Given the description of an element on the screen output the (x, y) to click on. 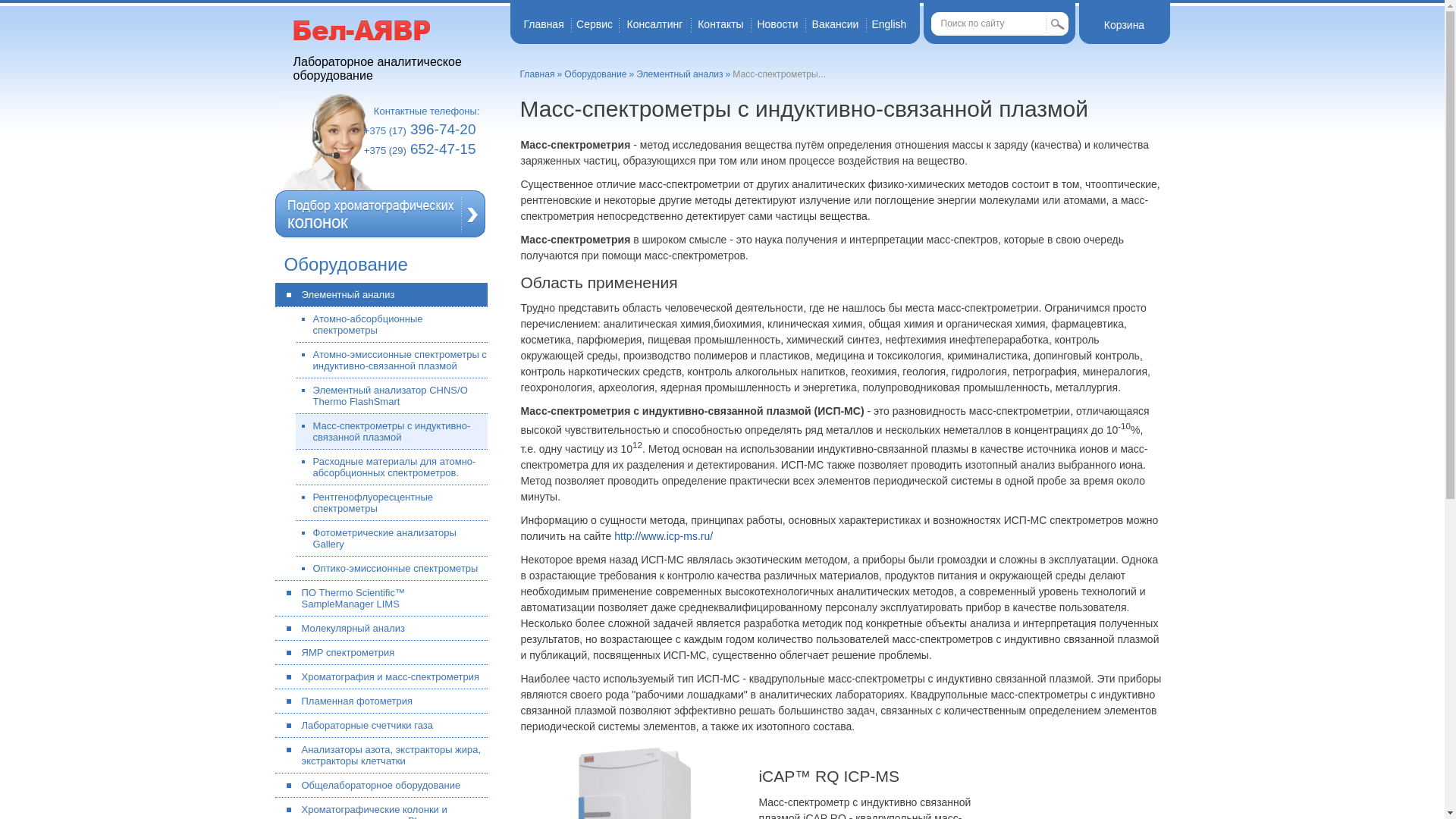
http://www.icp-ms.ru/ Element type: text (663, 536)
652-47-15 Element type: text (443, 148)
English Element type: text (888, 24)
396-74-20 Element type: text (443, 129)
